Given the description of an element on the screen output the (x, y) to click on. 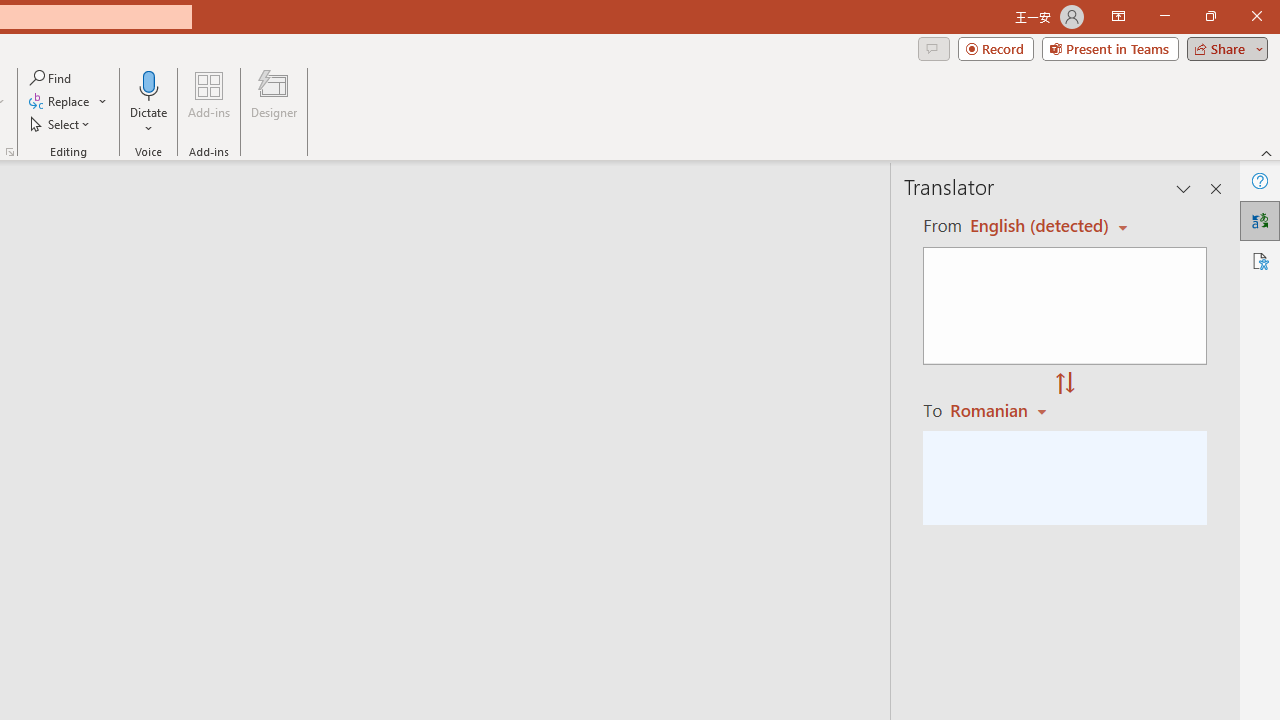
Romanian (1001, 409)
Czech (detected) (1039, 225)
